Given the description of an element on the screen output the (x, y) to click on. 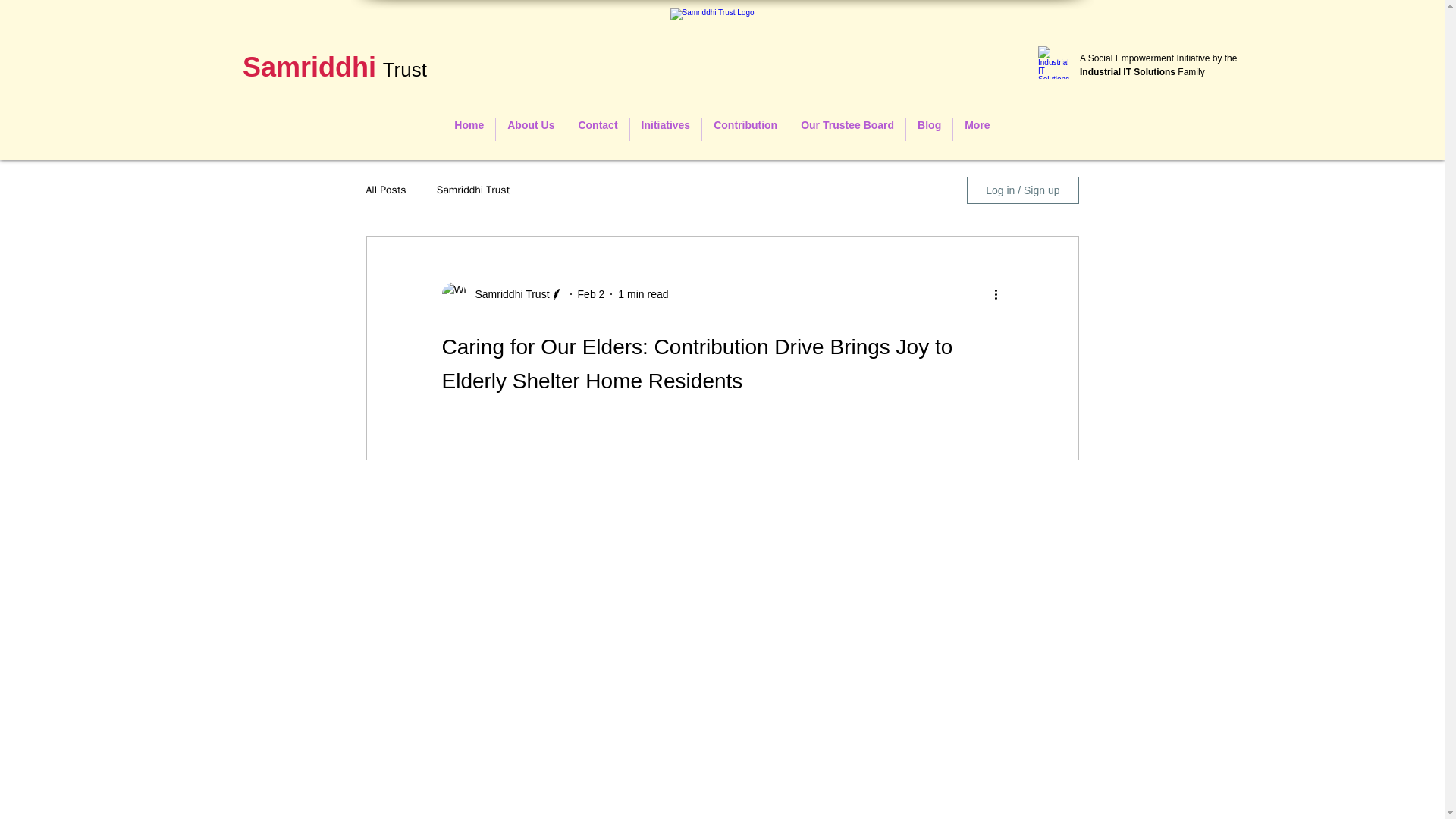
Blog (928, 128)
Samriddhi Trust (472, 190)
Contact (597, 128)
Feb 2 (591, 294)
All Posts (385, 190)
1 min read (642, 294)
Initiatives (665, 128)
Industrial IT Solutions Pvt Ltd (1055, 61)
Samriddh Trust (721, 60)
Contribution (745, 128)
Our Trustee Board (847, 128)
About Us (531, 128)
Home (468, 128)
Samriddhi Trust (506, 294)
